Given the description of an element on the screen output the (x, y) to click on. 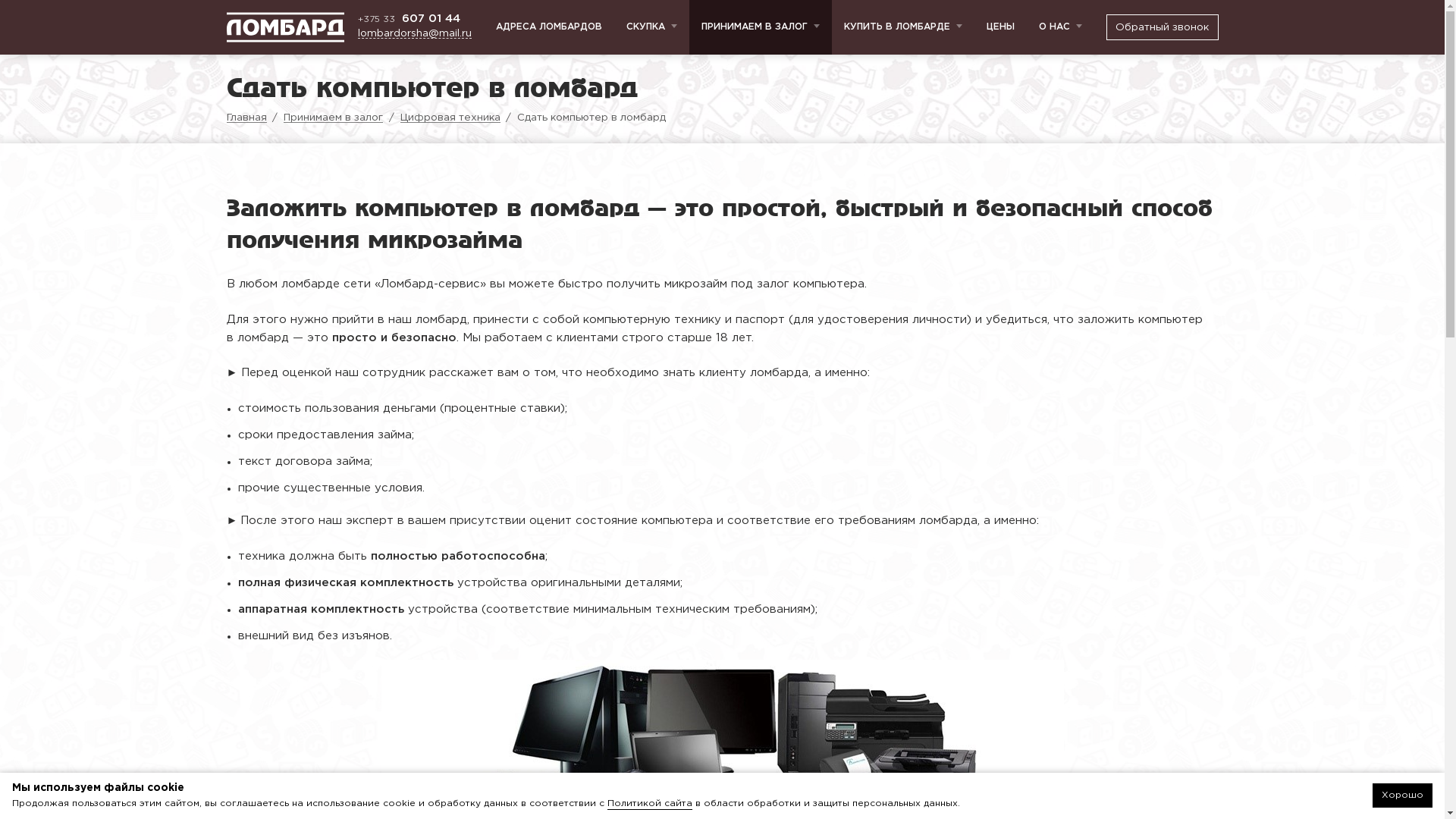
+375 33 607 01 44 Element type: text (414, 18)
lombardorsha@mail.ru Element type: text (414, 33)
